Given the description of an element on the screen output the (x, y) to click on. 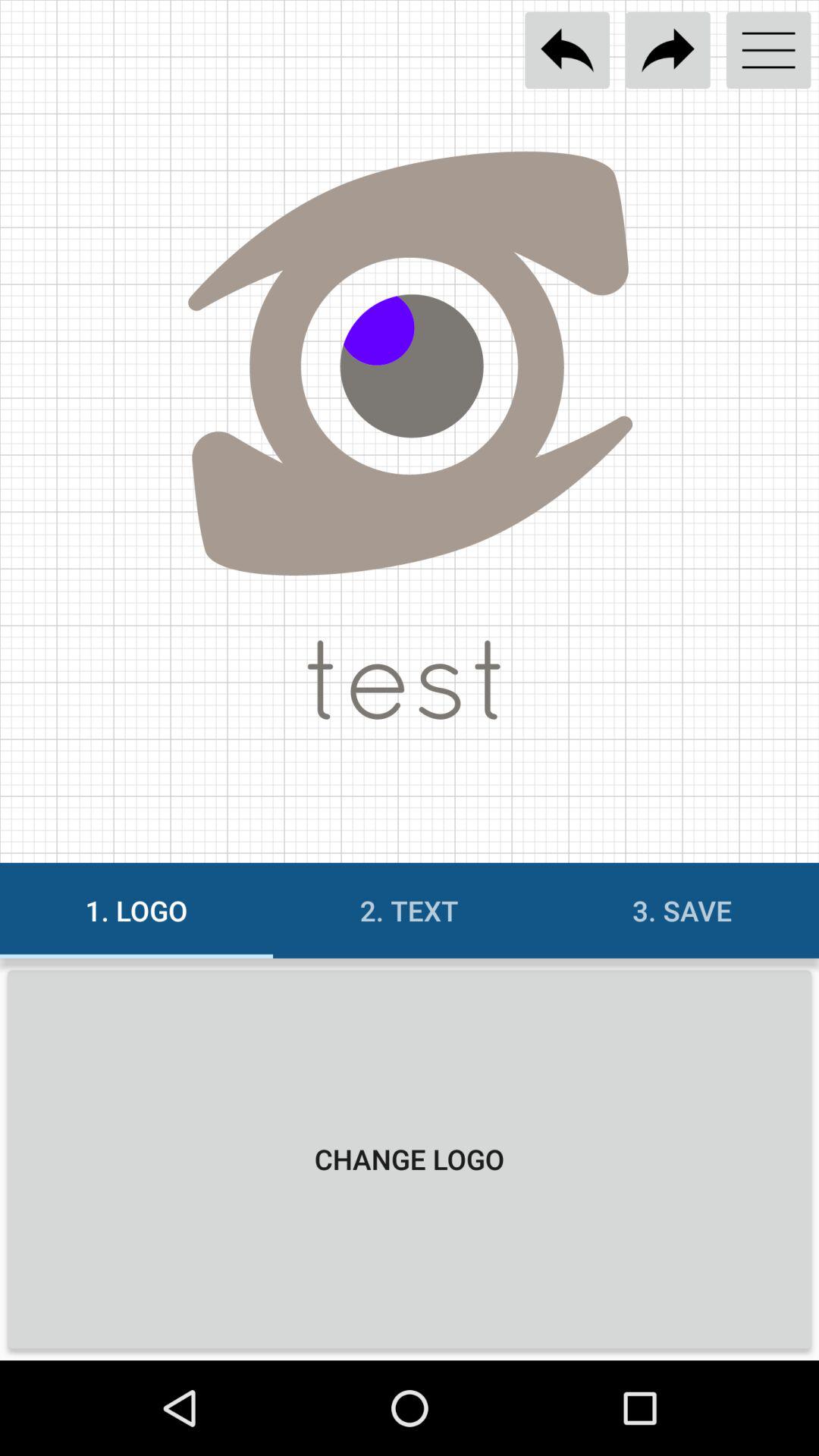
go previous (566, 50)
